Given the description of an element on the screen output the (x, y) to click on. 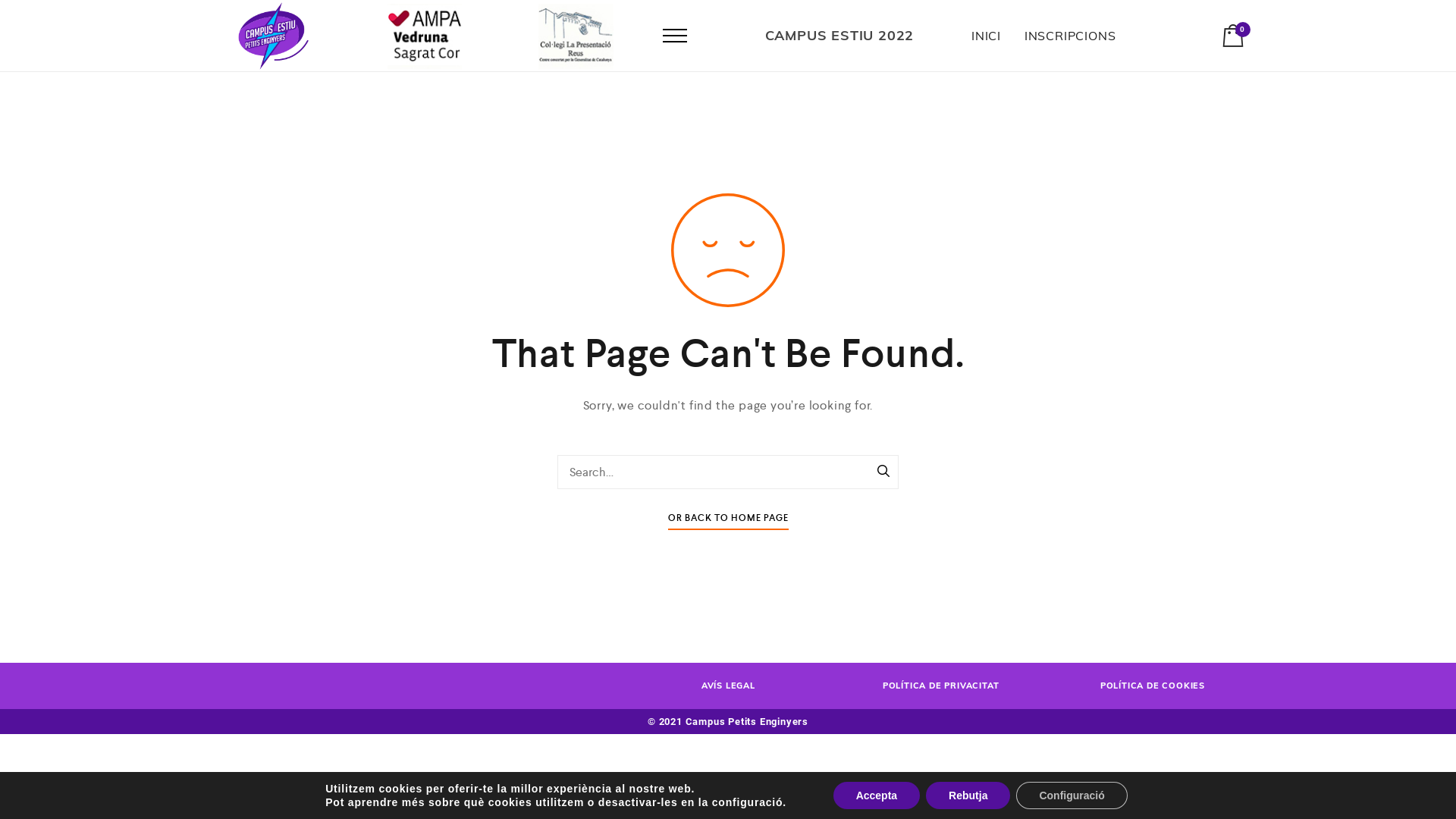
OR BACK TO HOME PAGE Element type: text (727, 521)
Rebutja Element type: text (967, 795)
Search Element type: text (883, 472)
Petits Enginyers Element type: hover (575, 35)
Petits Enginyers Element type: hover (272, 35)
INICI Element type: text (986, 35)
Accepta Element type: text (876, 795)
INSCRIPCIONS Element type: text (1070, 35)
Petits Enginyers Element type: hover (423, 35)
